Given the description of an element on the screen output the (x, y) to click on. 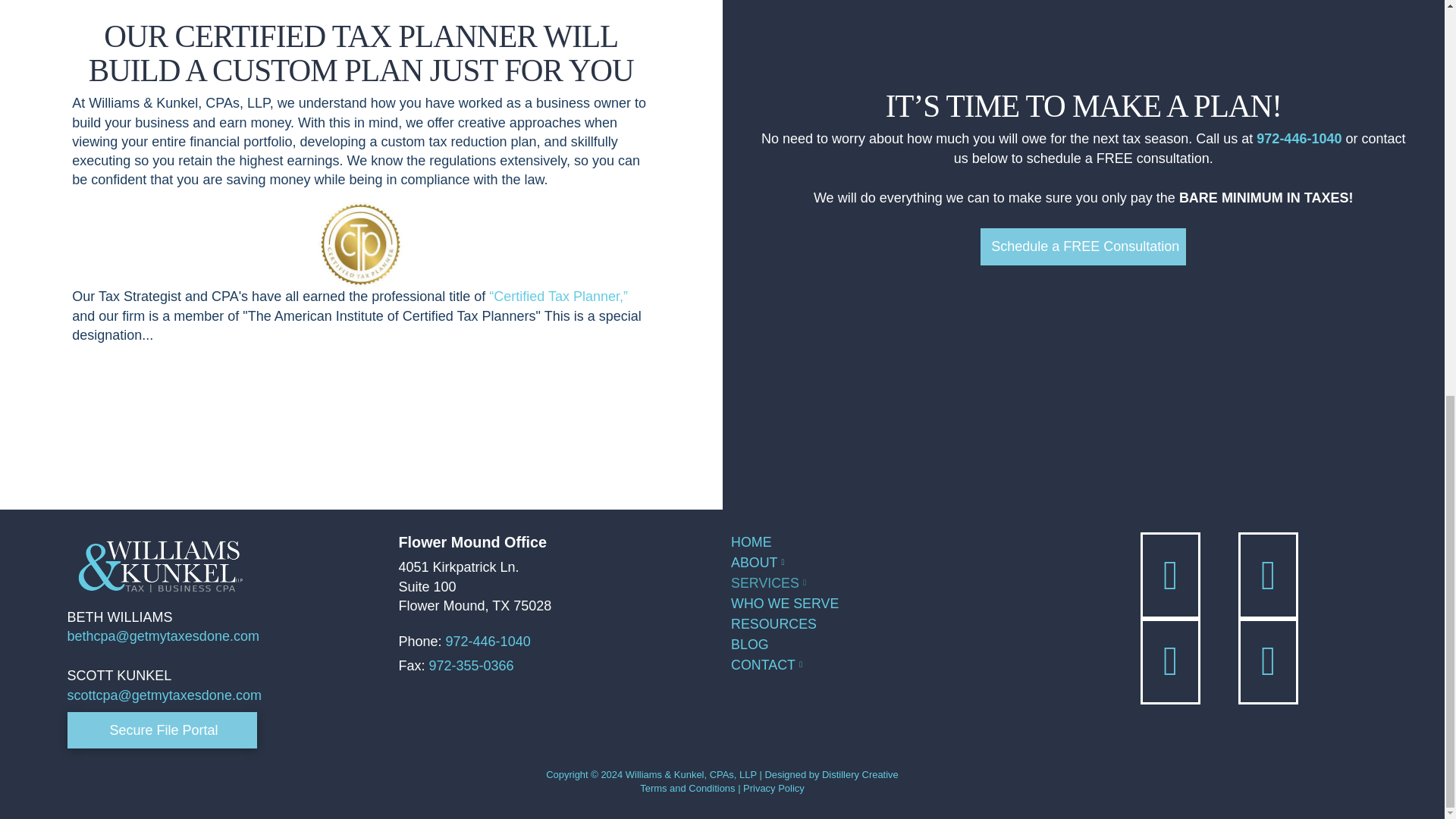
972-446-1040 (488, 641)
ABOUT (887, 562)
972-355-0366 (471, 665)
Secure File Portal (161, 730)
HOME (887, 542)
972-446-1040 (1298, 138)
